Given the description of an element on the screen output the (x, y) to click on. 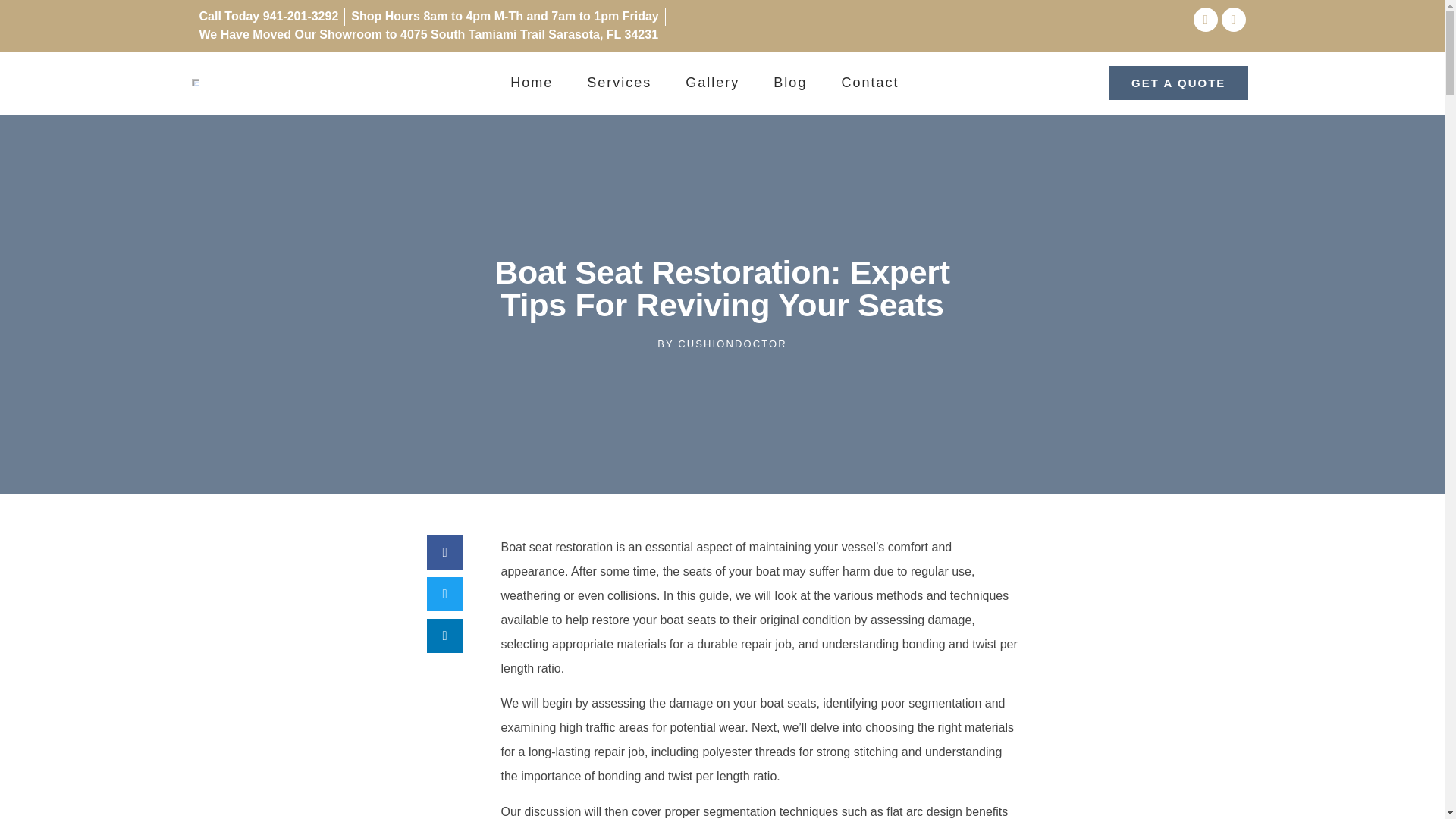
BY CUSHIONDOCTOR (722, 344)
Contact (869, 82)
GET A QUOTE (1177, 82)
Services (618, 82)
Home (531, 82)
Gallery (712, 82)
Call Today 941-201-3292 (267, 16)
Blog (789, 82)
